Given the description of an element on the screen output the (x, y) to click on. 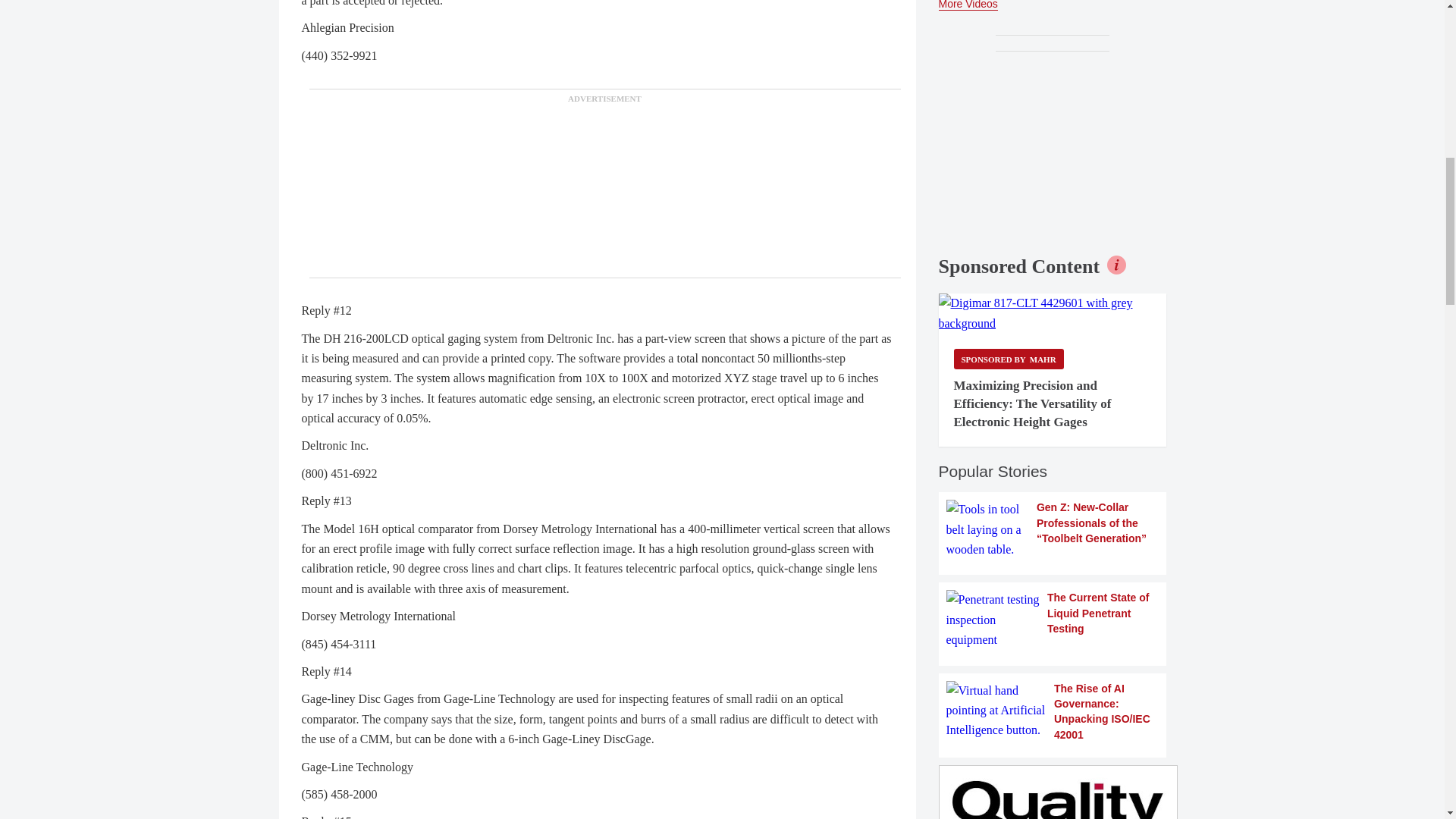
Sponsored by Mahr (1008, 358)
The Current State of Liquid Penetrant Testing (1052, 619)
Digimar 817-CLT 4429601 with grey background (1052, 313)
